Given the description of an element on the screen output the (x, y) to click on. 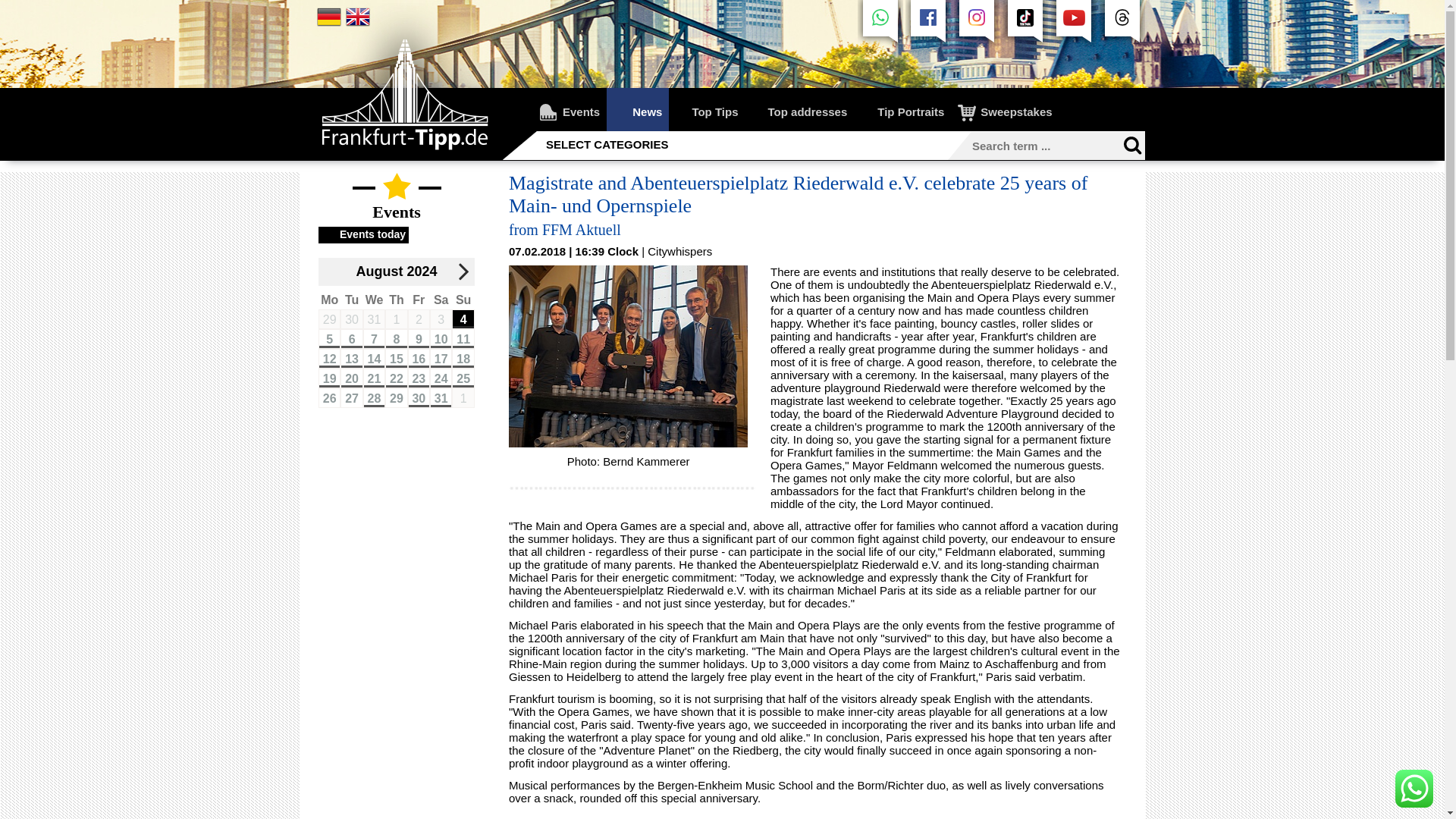
follow us on threads (1121, 24)
EN (357, 16)
Tip Portraits (903, 109)
Events (572, 109)
whatsapp (879, 24)
EN (357, 24)
Sweepstakes (1005, 109)
Top Tips (706, 109)
follow us on youtube (1073, 44)
follow us on facebook (927, 24)
follow us on tiktok (1025, 44)
News (637, 109)
follow us on facebook (927, 44)
follow us on facebook (879, 44)
Frankfurt Tipp (405, 155)
